Given the description of an element on the screen output the (x, y) to click on. 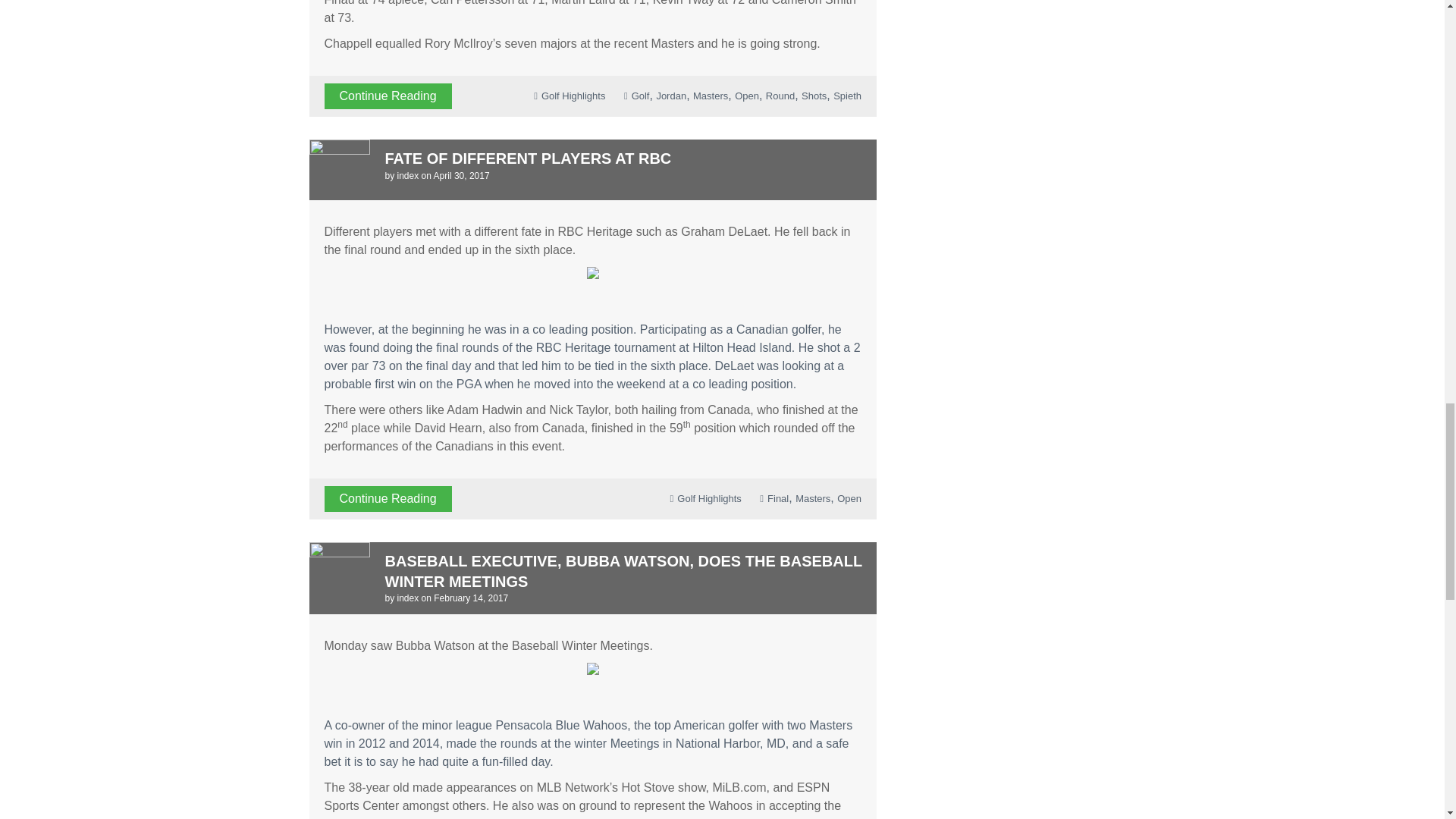
Jordan (670, 95)
Shots (814, 95)
Continue Reading (387, 95)
Golf Highlights (709, 498)
Golf (640, 95)
Open (746, 95)
Golf Highlights (573, 95)
Masters (710, 95)
Continue Reading (387, 498)
Round (779, 95)
